Given the description of an element on the screen output the (x, y) to click on. 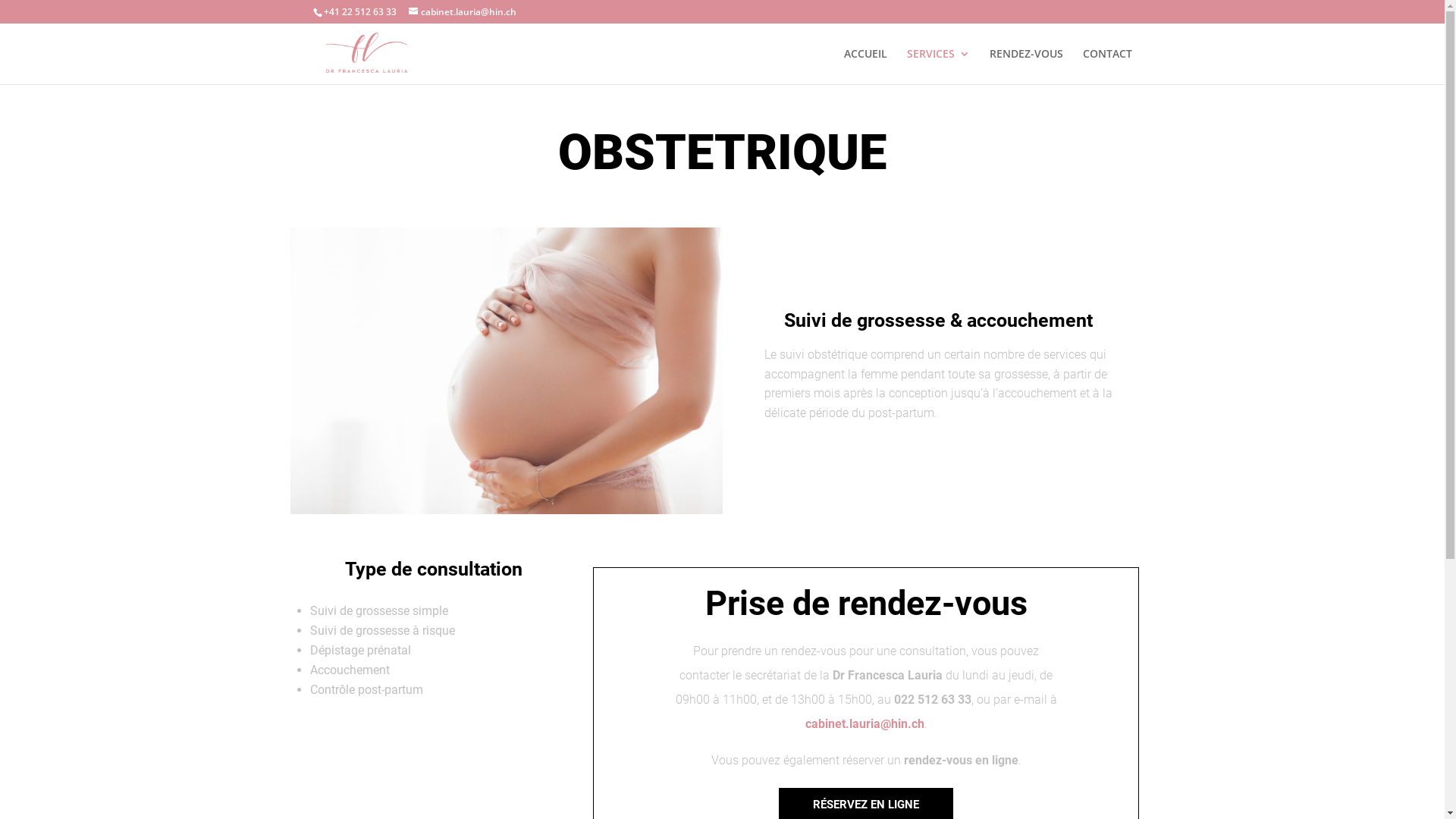
RENDEZ-VOUS Element type: text (1025, 66)
cabinet.lauria@hin.ch Element type: text (864, 723)
cabinet.lauria@hin.ch Element type: text (461, 11)
CONTACT Element type: text (1107, 66)
SERVICES Element type: text (937, 66)
ACCUEIL Element type: text (864, 66)
